Given the description of an element on the screen output the (x, y) to click on. 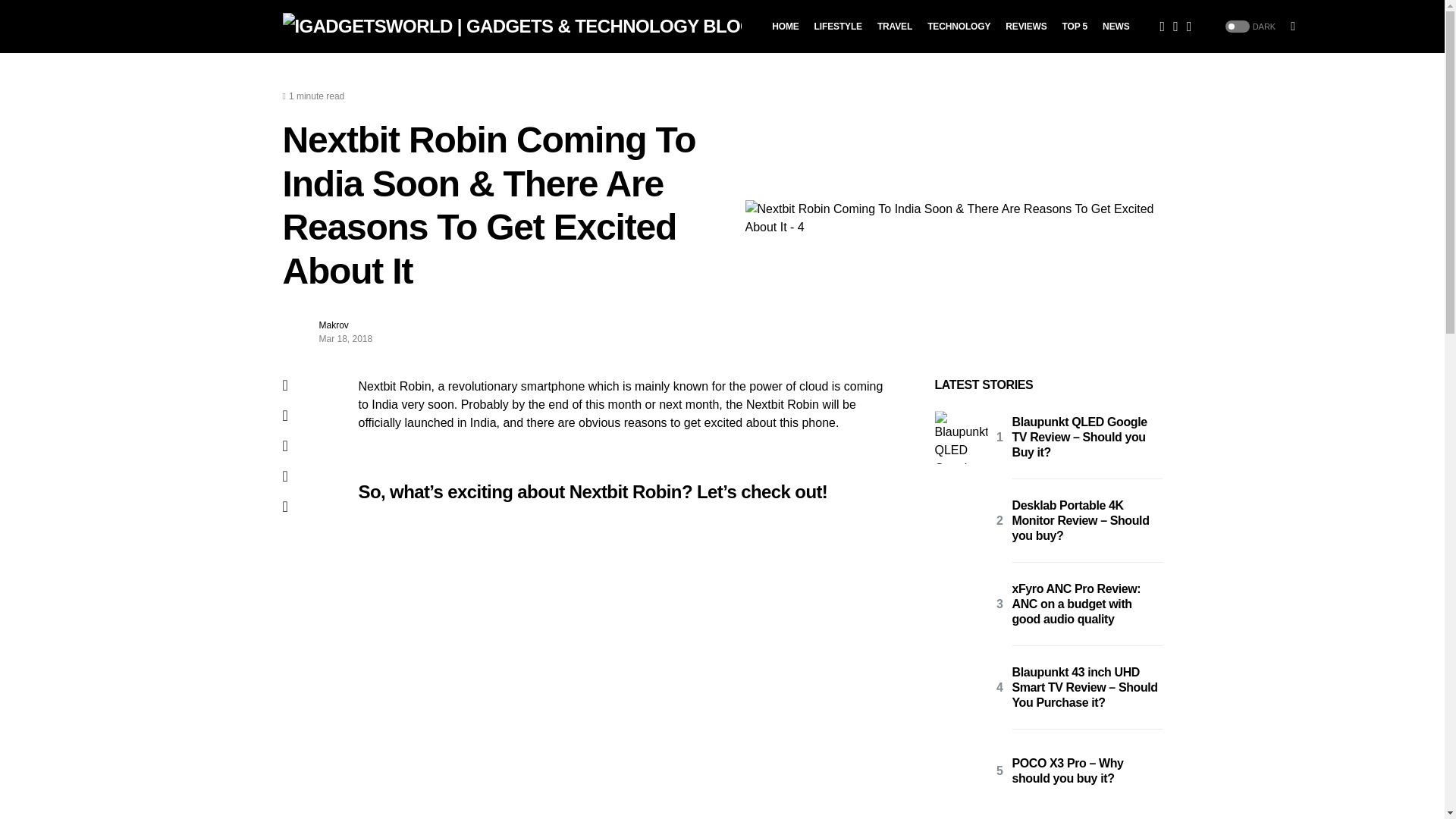
LIFESTYLE (837, 26)
POCO X3 Pro - Why should you buy it? - 9 (960, 770)
Blaupunkt QLED Google TV Review - Should you Buy it? - 5 (960, 437)
TECHNOLOGY (958, 26)
Desklab Portable 4K Monitor Review - Should you buy? - 6 (960, 520)
